Given the description of an element on the screen output the (x, y) to click on. 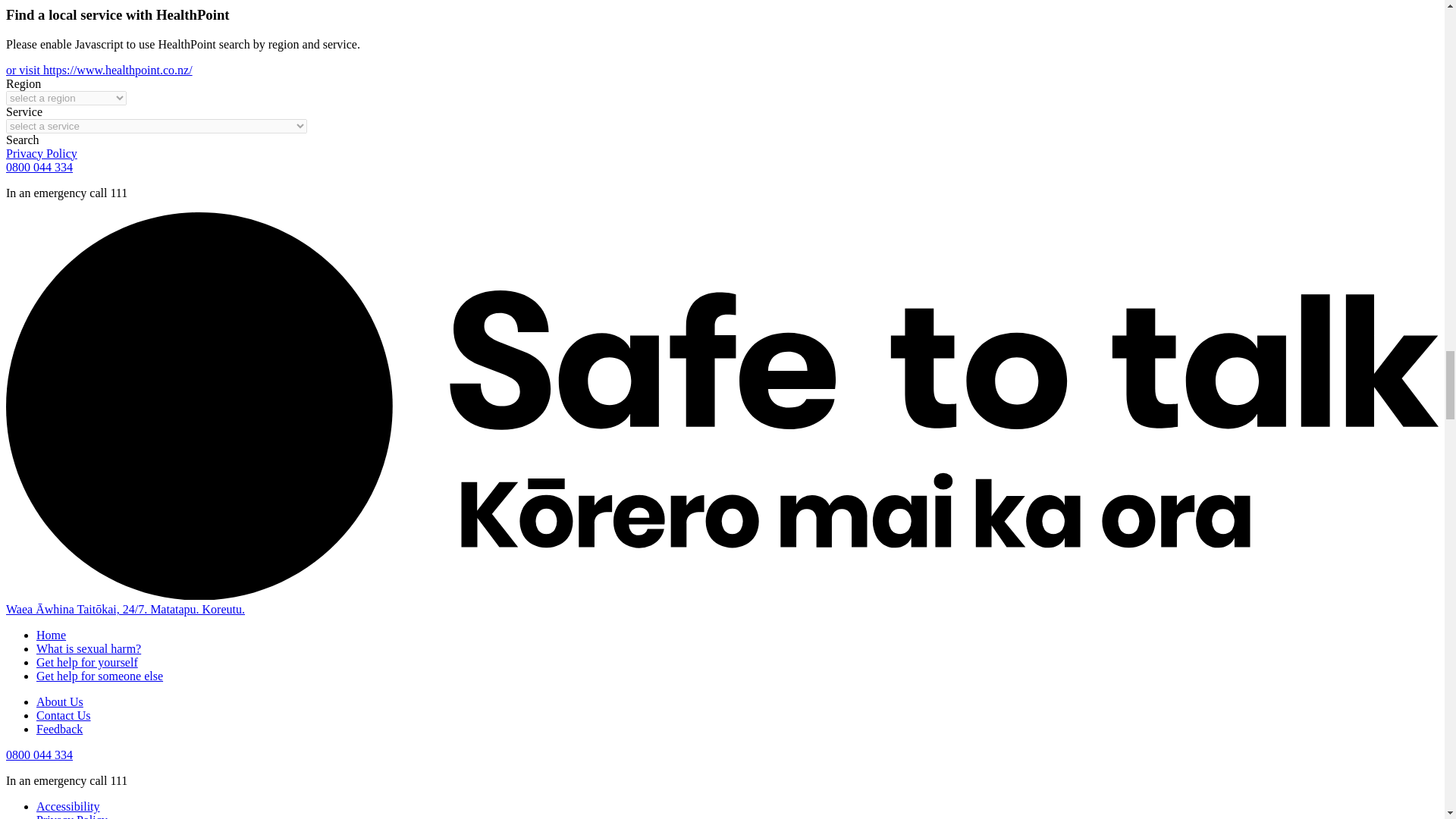
Privacy Policy (71, 816)
0800 044 334 (38, 754)
Privacy Policy (41, 153)
Get help for yourself (87, 662)
Privacy Policy (41, 153)
Feedback (59, 728)
Go to HealthPoint (98, 69)
About Us (59, 701)
Call 0800 044 334 (38, 166)
Search (22, 139)
About Us (59, 701)
Get help for yourself (87, 662)
Home (50, 634)
What is sexual harm? (88, 648)
Contact Us (63, 715)
